Given the description of an element on the screen output the (x, y) to click on. 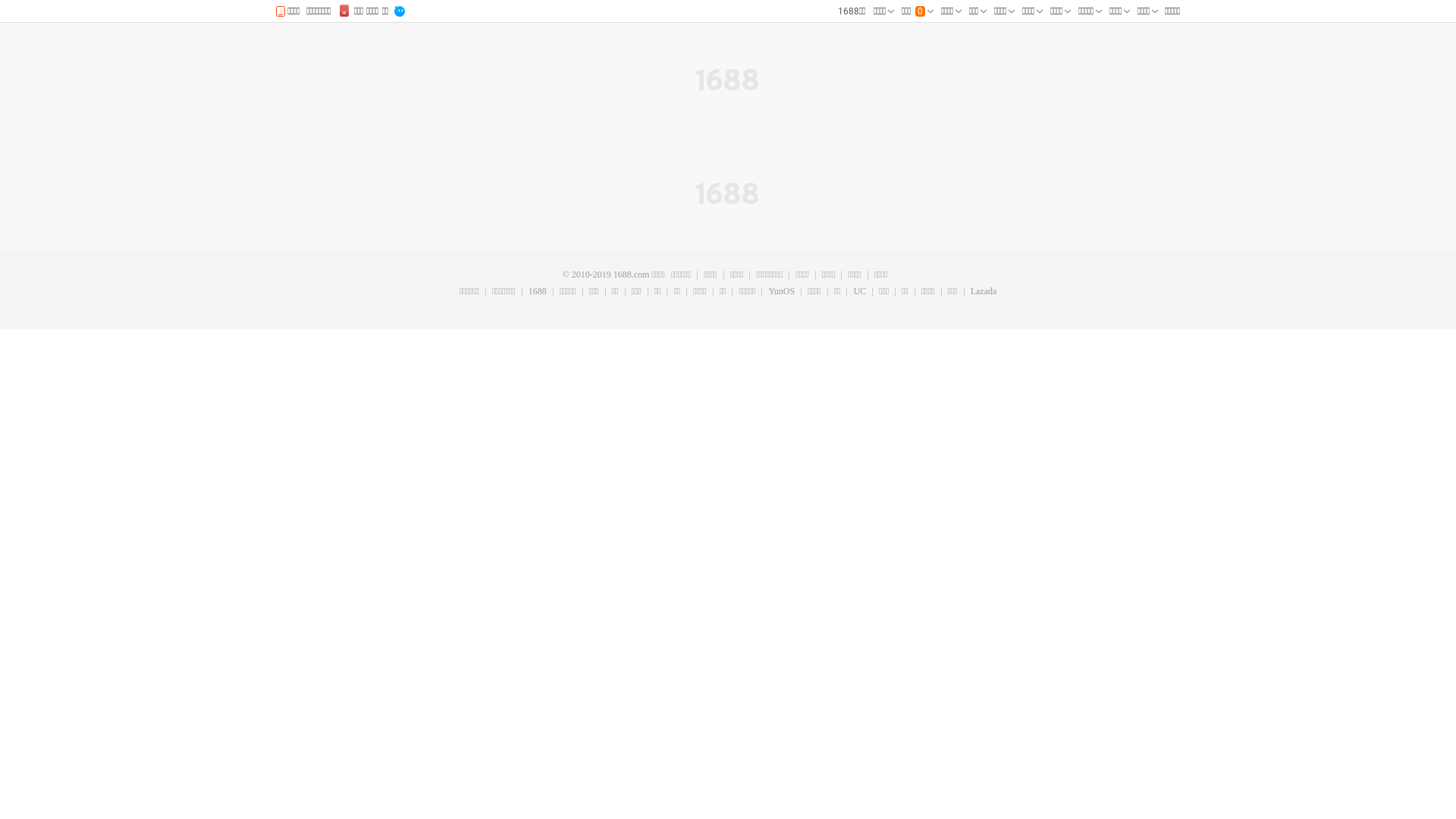
UC Element type: text (859, 291)
1688 Element type: text (536, 291)
Lazada Element type: text (983, 291)
YunOS Element type: text (780, 291)
